Given the description of an element on the screen output the (x, y) to click on. 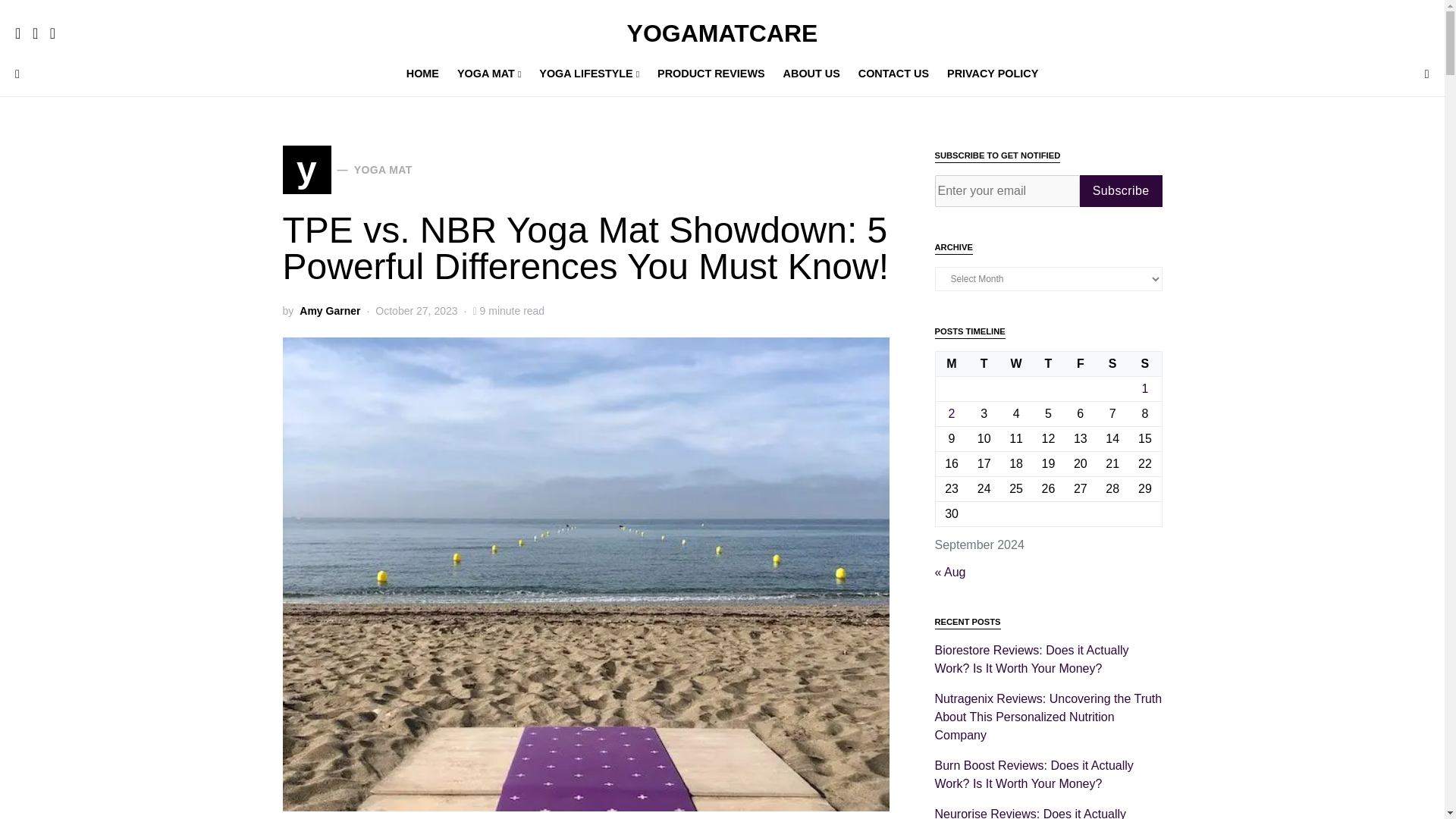
View all posts by Amy Garner (329, 311)
Monday (951, 364)
Tuesday (984, 364)
